Given the description of an element on the screen output the (x, y) to click on. 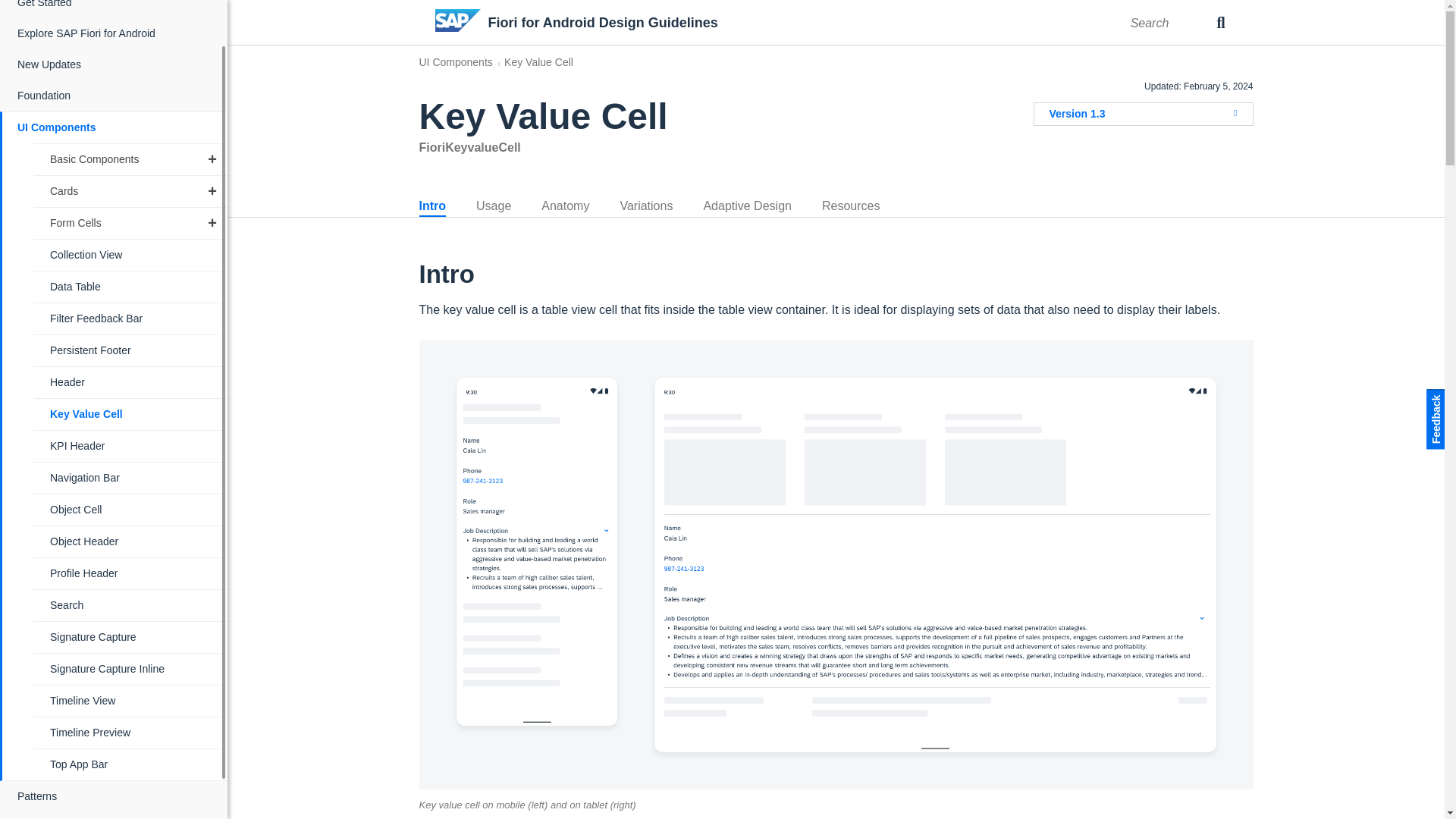
Basic Components (130, 159)
New Updates (114, 64)
UI Components (114, 127)
Collection View (130, 255)
Get Started (114, 9)
Explore SAP Fiori for Android (114, 33)
Foundation (114, 95)
Form Cells (130, 223)
Data Table (130, 286)
Cards (130, 191)
